Given the description of an element on the screen output the (x, y) to click on. 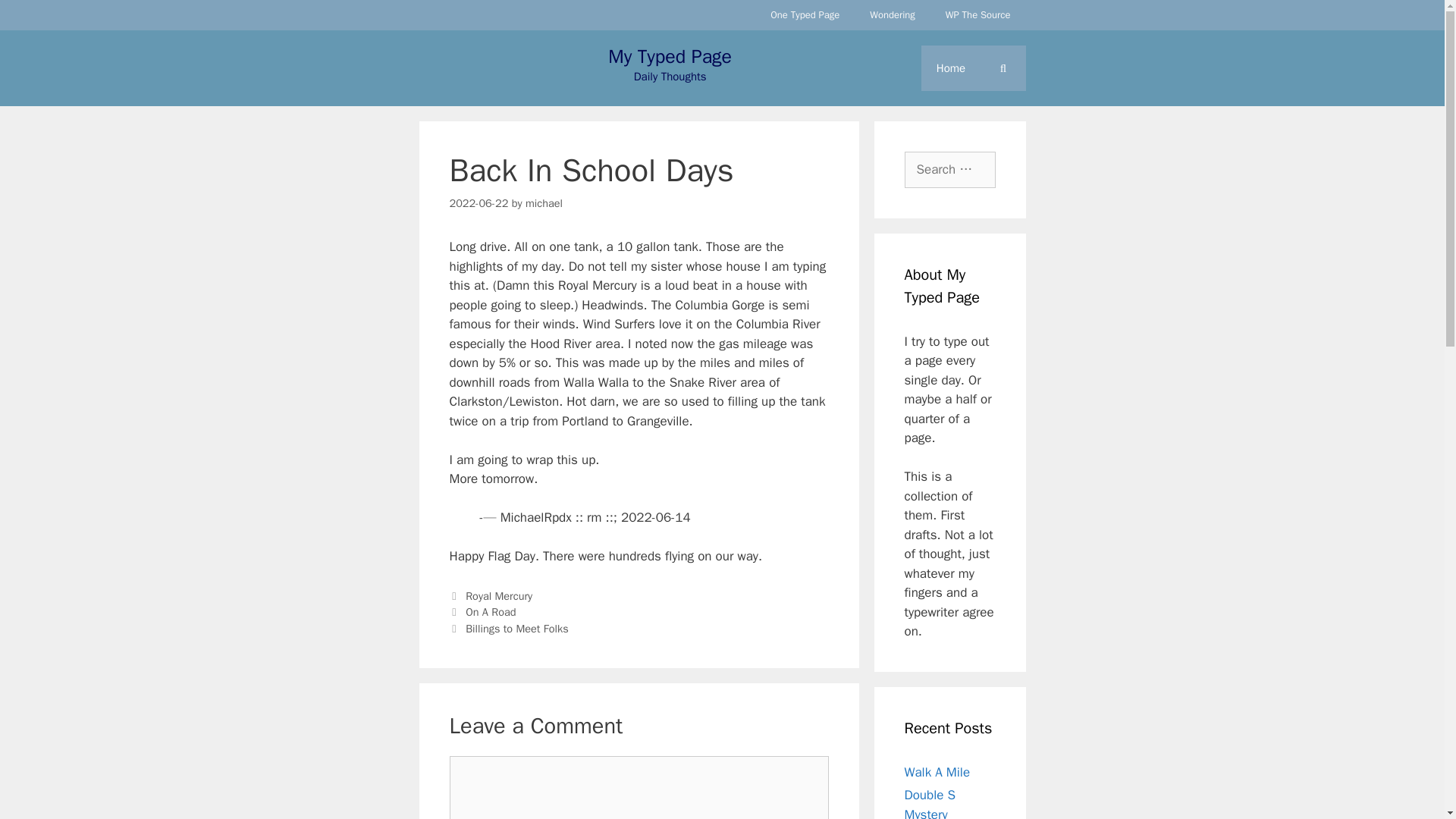
My Typed Page (670, 56)
Billings to Meet Folks (517, 628)
Wondering (892, 15)
Walk A Mile (936, 772)
michael (543, 202)
Search (35, 18)
On A Road (490, 612)
One Typed Page (804, 15)
Double S Mystery (929, 803)
Search for: (949, 169)
